Given the description of an element on the screen output the (x, y) to click on. 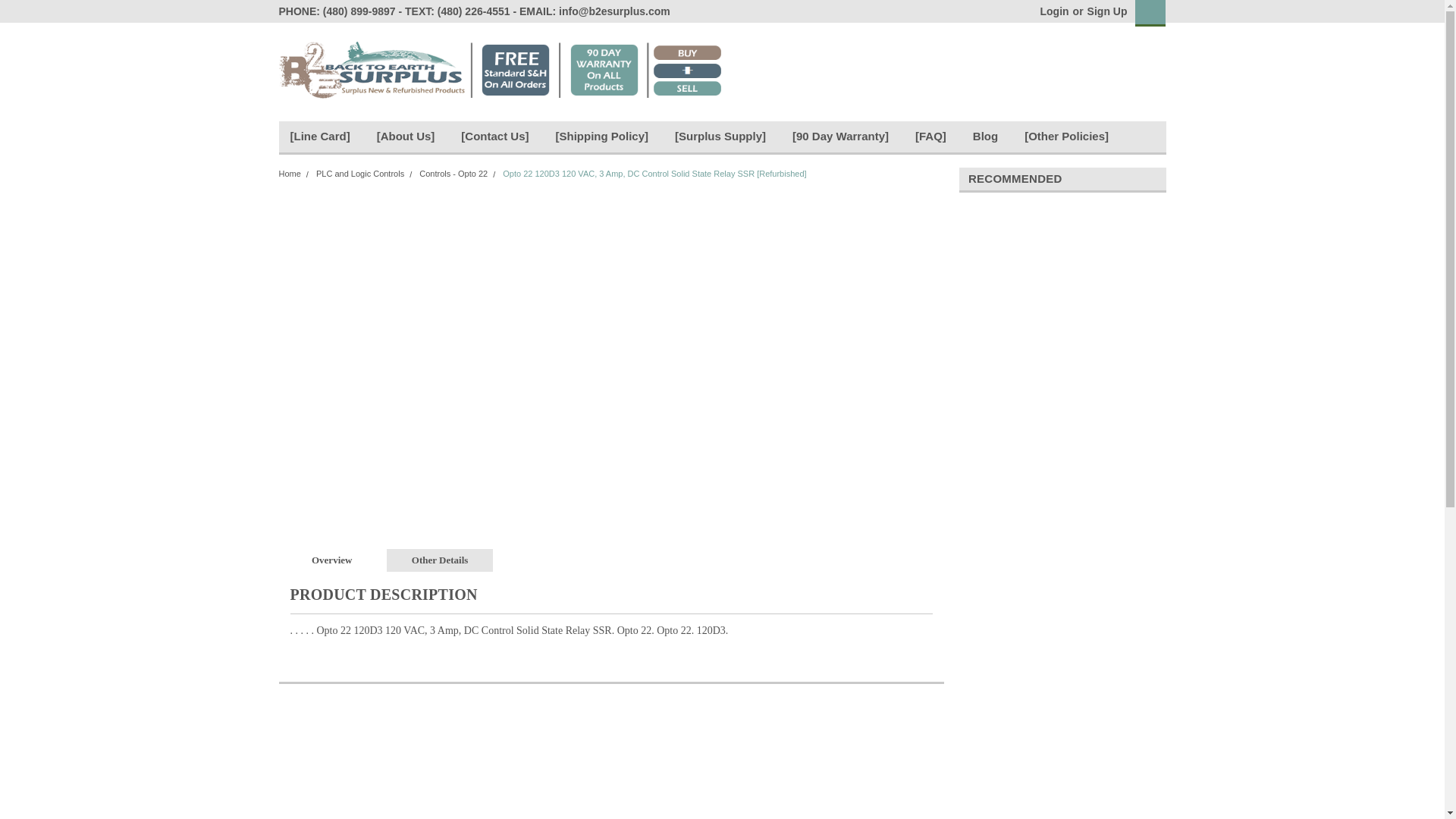
Login (1054, 11)
Sign Up (1104, 11)
